Given the description of an element on the screen output the (x, y) to click on. 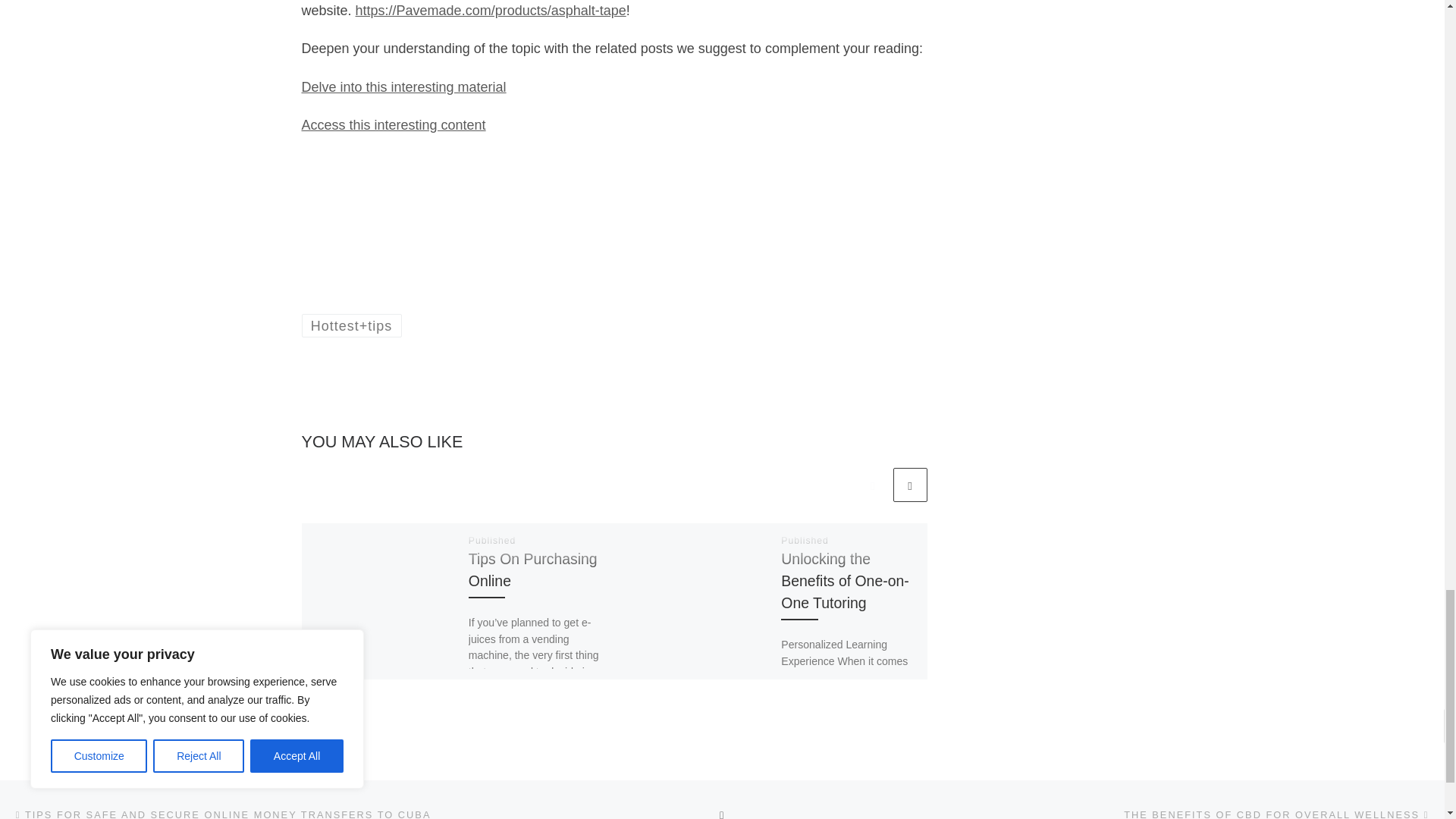
Access this interesting content (393, 124)
Delve into this interesting material (403, 87)
Next related articles (910, 484)
Previous related articles (872, 484)
